Given the description of an element on the screen output the (x, y) to click on. 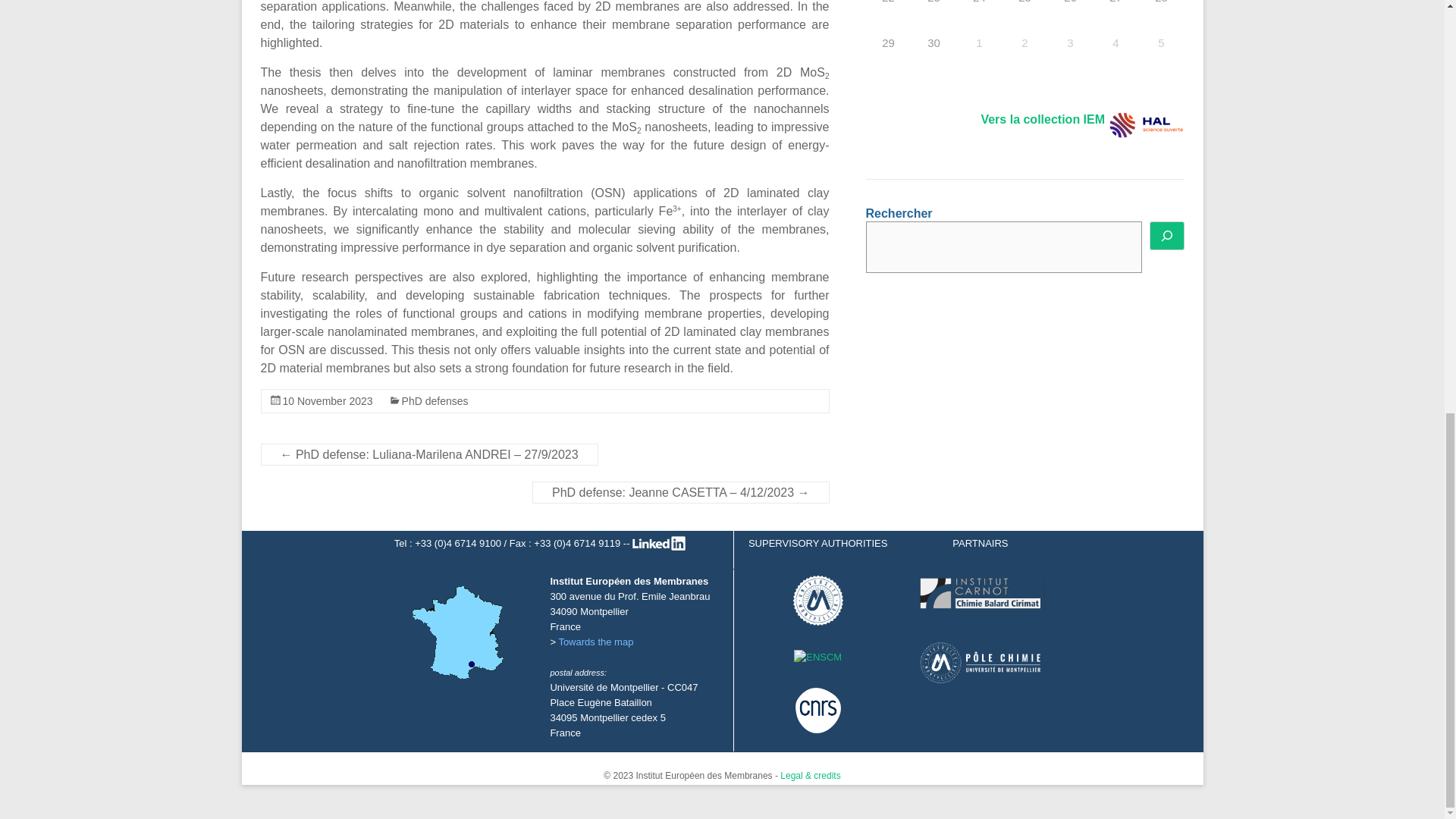
Vers la collection IEM (1042, 119)
PhD defenses (434, 400)
Towards the map (595, 641)
17:53 (327, 400)
10 November 2023 (327, 400)
